Given the description of an element on the screen output the (x, y) to click on. 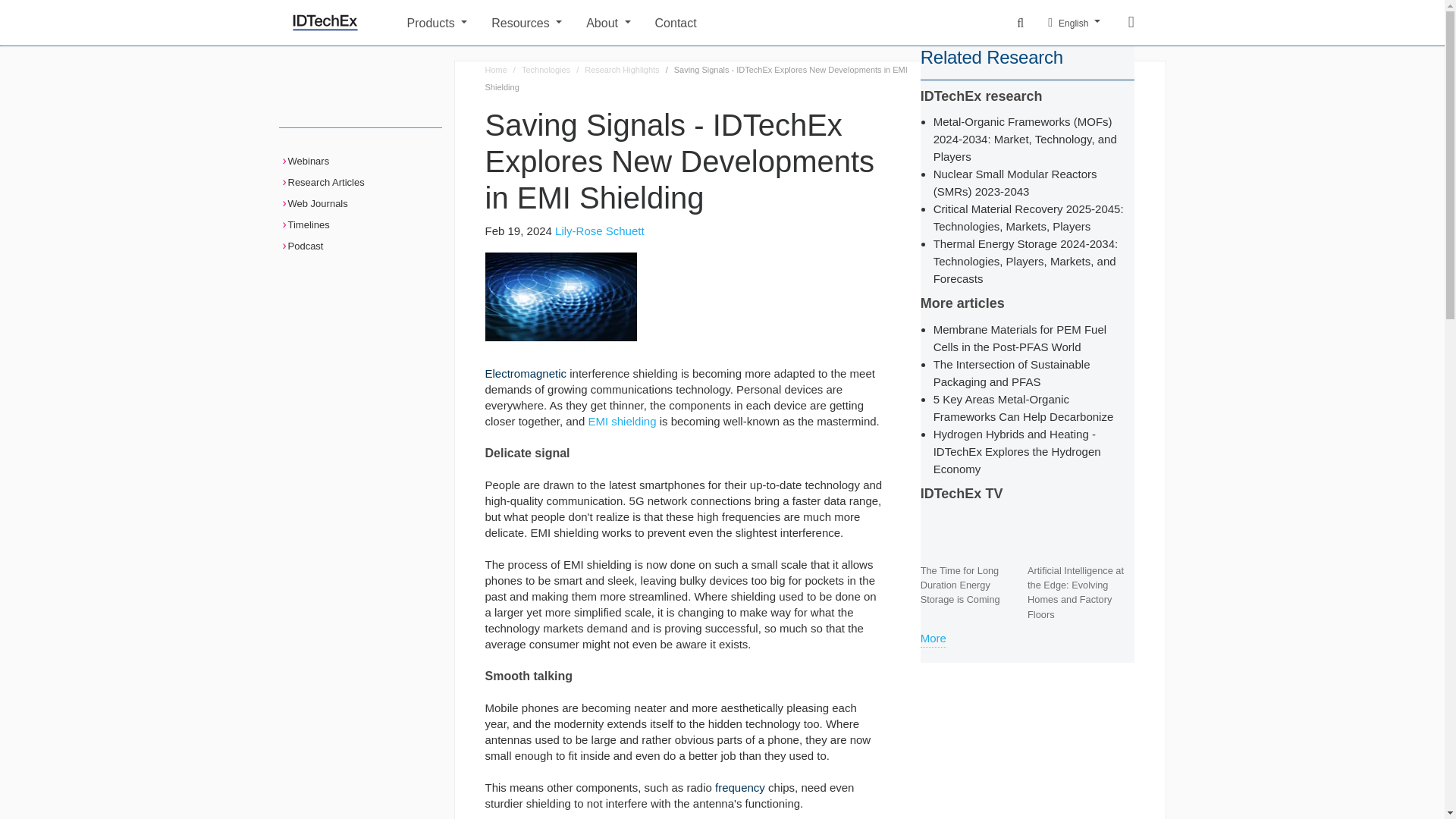
Products (436, 21)
About (607, 21)
Resources (525, 21)
  English (1074, 22)
Contact (820, 21)
